Given the description of an element on the screen output the (x, y) to click on. 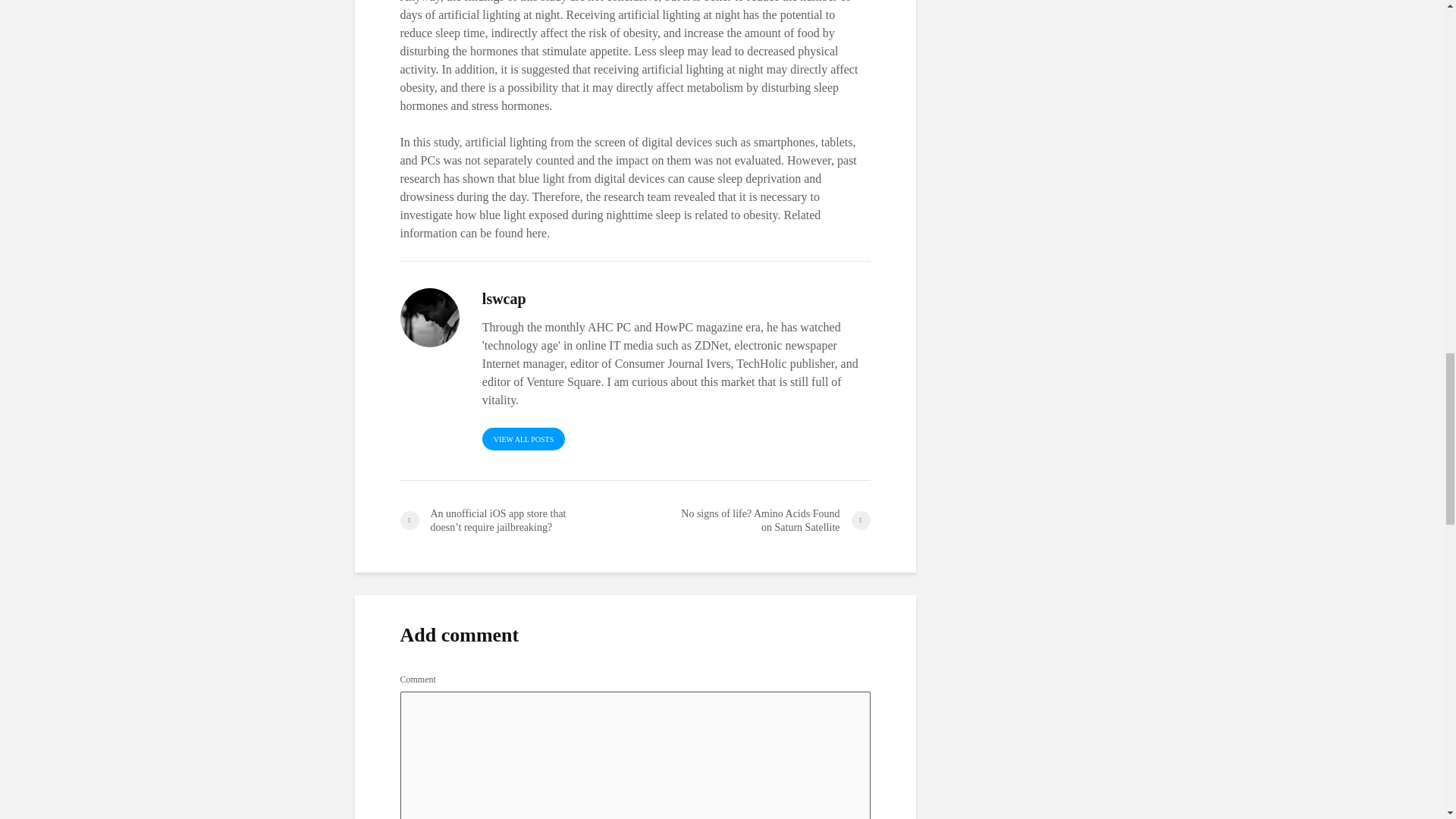
No signs of life? Amino Acids Found on Saturn Satellite (752, 520)
VIEW ALL POSTS (522, 438)
